Given the description of an element on the screen output the (x, y) to click on. 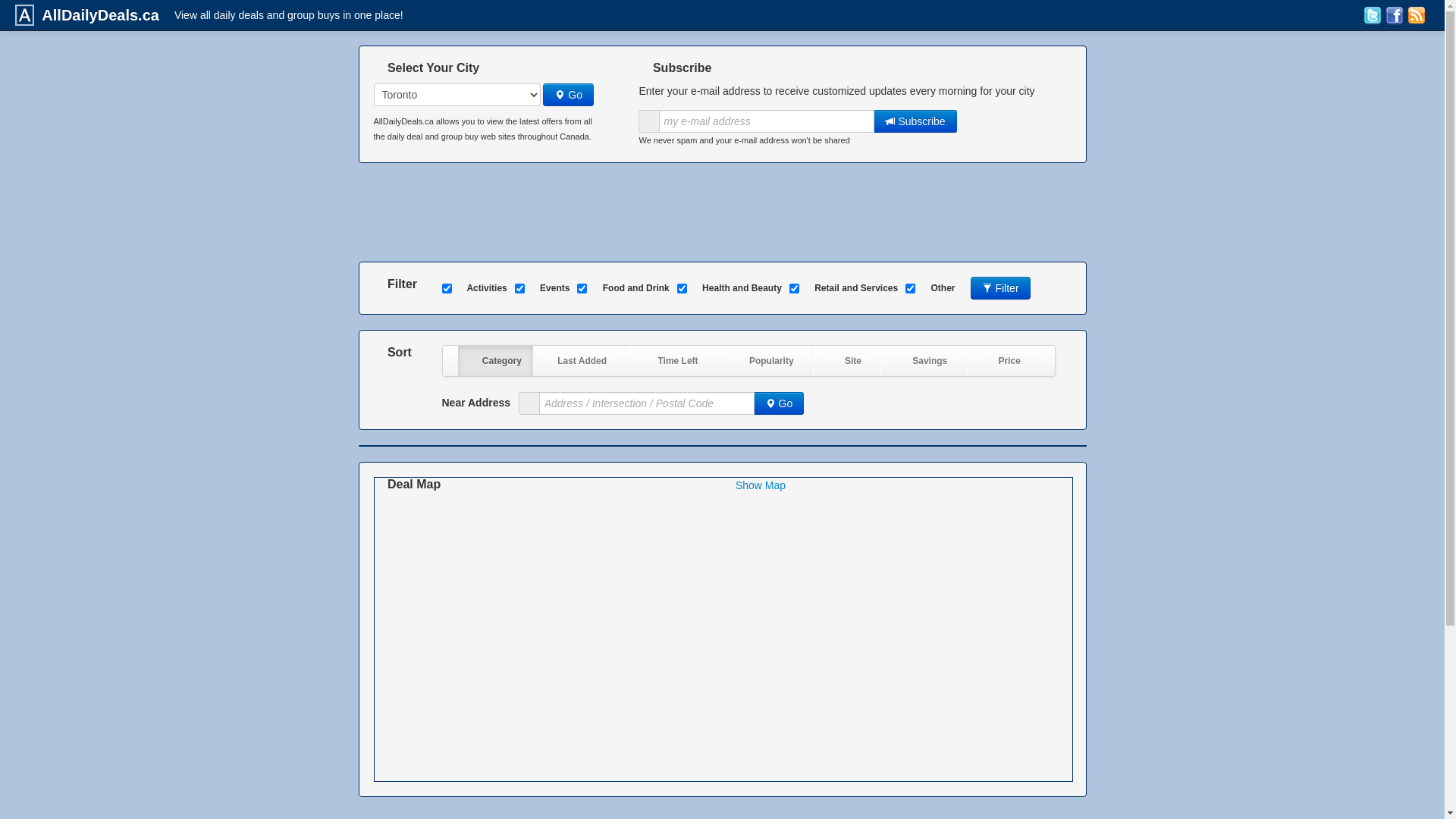
Follow Us on Facebook! Element type: hover (1394, 15)
AllDailyDeals.ca Element type: hover (24, 15)
RSS Feed Element type: hover (1416, 15)
Savings Element type: text (923, 360)
Category Element type: text (495, 360)
Filter Element type: text (1000, 287)
Popularity Element type: text (764, 360)
Site Element type: text (846, 360)
Time Left Element type: text (671, 360)
Show Map Element type: text (760, 485)
Price Element type: text (1002, 360)
Subscribe Element type: text (915, 120)
Last Added Element type: text (575, 360)
Follow Us on Twitter! Element type: hover (1372, 15)
Advertisement Element type: hover (721, 212)
Go Element type: text (567, 94)
Go Element type: text (778, 403)
  AllDailyDeals.ca Element type: text (96, 15)
